Given the description of an element on the screen output the (x, y) to click on. 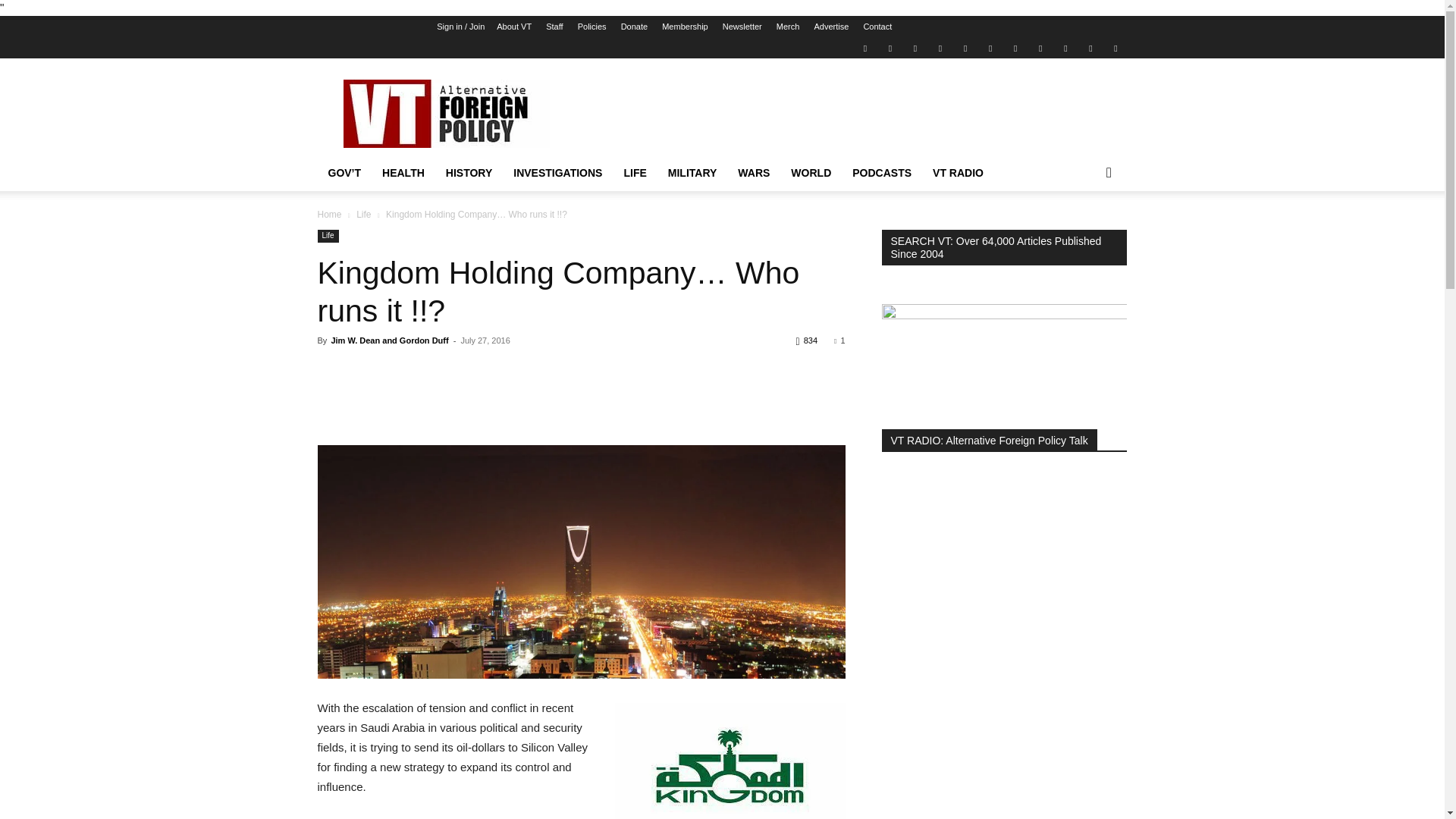
Staff (554, 26)
Reddit (940, 47)
Donate (634, 26)
Policies (592, 26)
Advertise (830, 26)
About VT (513, 26)
Membership (684, 26)
Blogger (864, 47)
Mail (915, 47)
Merch (787, 26)
Contact (877, 26)
Newsletter (741, 26)
Rumble (964, 47)
Facebook (890, 47)
